Given the description of an element on the screen output the (x, y) to click on. 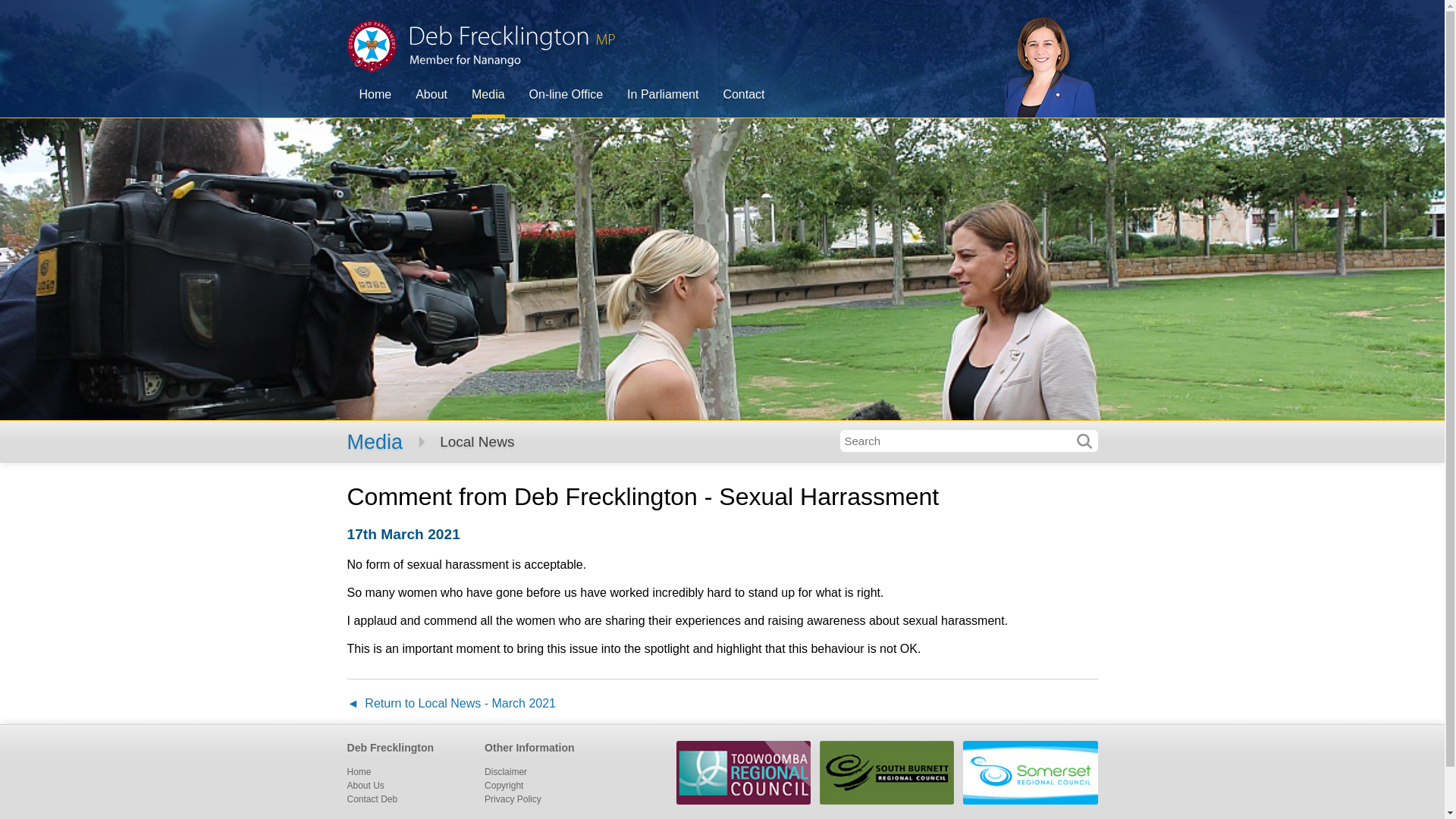
Copyright Element type: text (503, 785)
Privacy Policy Element type: text (512, 798)
Contact Deb Element type: text (372, 798)
About Us Element type: text (365, 785)
Contact Element type: text (743, 94)
Home Element type: text (375, 94)
Disclaimer Element type: text (505, 771)
In Parliament Element type: text (662, 94)
Home Element type: text (359, 771)
Search Element type: text (1083, 441)
About Element type: text (431, 94)
Media Element type: text (488, 94)
On-line Office Element type: text (566, 94)
Return to Local News - March 2021 Element type: text (451, 704)
